Given the description of an element on the screen output the (x, y) to click on. 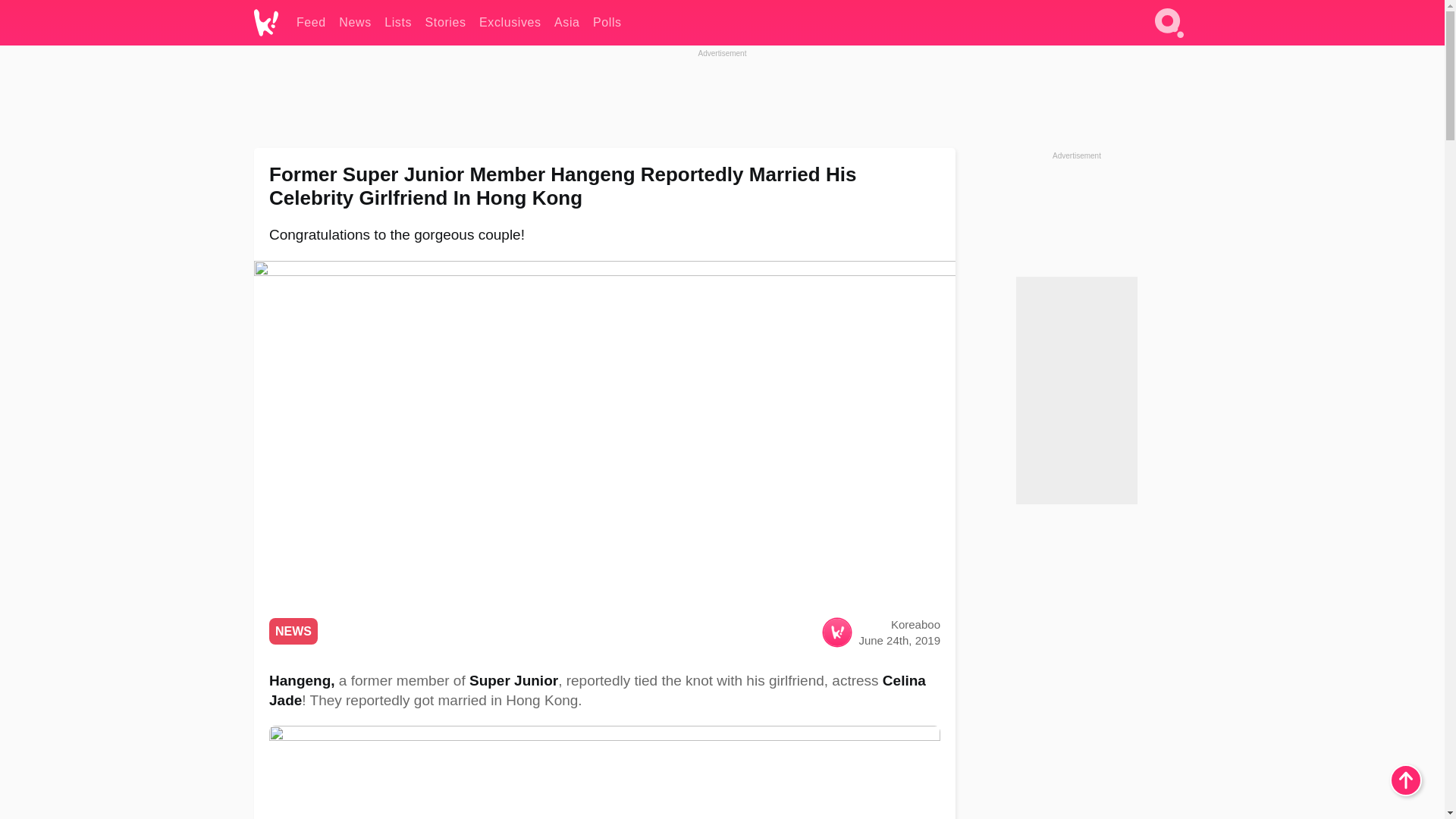
NEWS (293, 631)
Exclusives (510, 22)
Stories (445, 22)
